Given the description of an element on the screen output the (x, y) to click on. 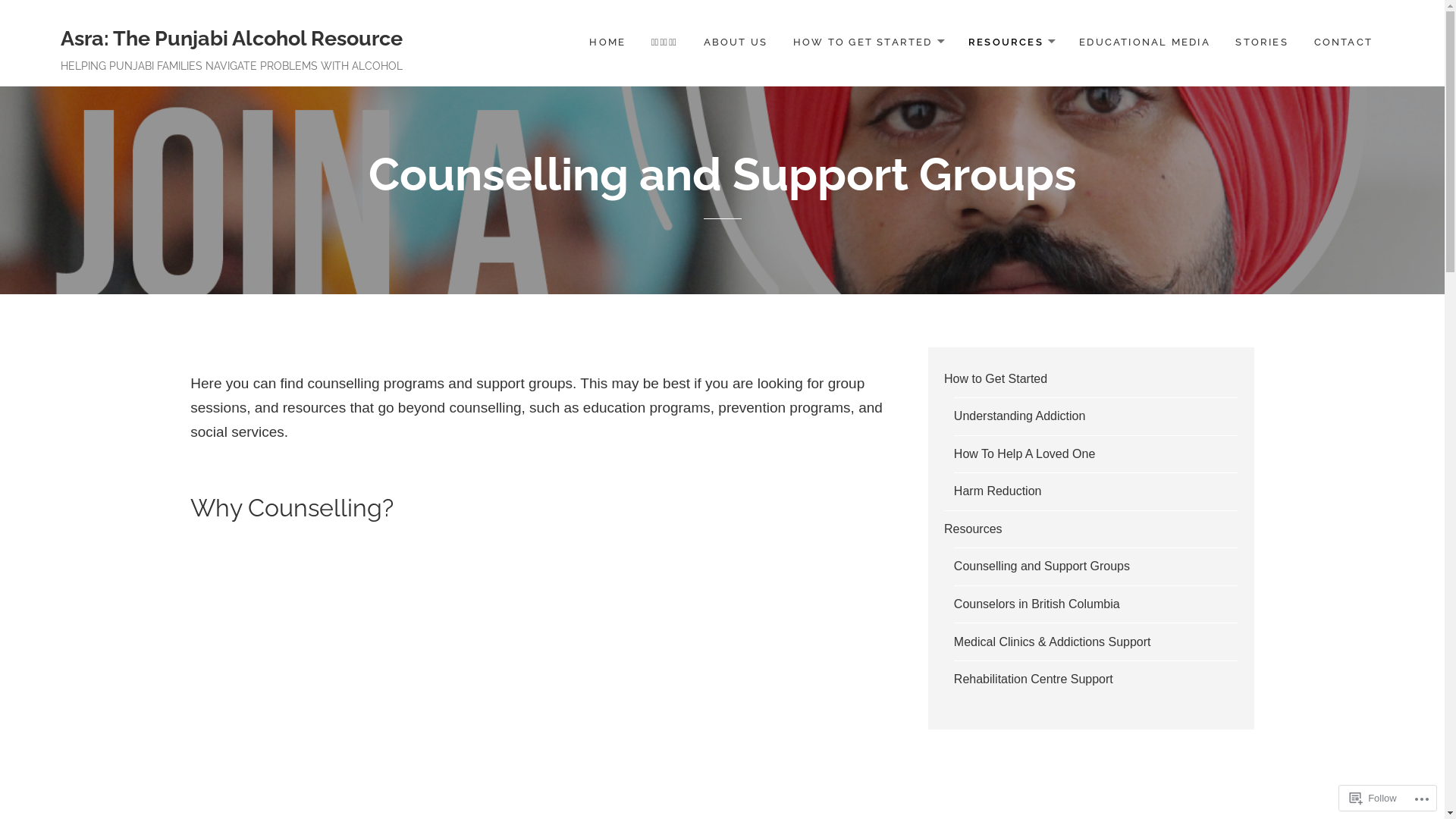
Counselling and Support Groups Element type: text (1041, 565)
STORIES Element type: text (1261, 42)
Counselors in British Columbia Element type: text (1036, 603)
How to Get Started Element type: text (995, 378)
Medical Clinics & Addictions Support Element type: text (1052, 641)
RESOURCES Element type: text (1011, 42)
HOME Element type: text (607, 42)
EDUCATIONAL MEDIA Element type: text (1144, 42)
CONTACT Element type: text (1342, 42)
Rehabilitation Centre Support Element type: text (1033, 678)
HOW TO GET STARTED Element type: text (867, 42)
Asra: The Punjabi Alcohol Resource Element type: text (231, 38)
Harm Reduction Element type: text (997, 490)
How To Help A Loved One Element type: text (1024, 453)
ABOUT US Element type: text (735, 42)
Follow Element type: text (1372, 797)
Understanding Addiction Element type: text (1019, 415)
Resources Element type: text (972, 528)
